Given the description of an element on the screen output the (x, y) to click on. 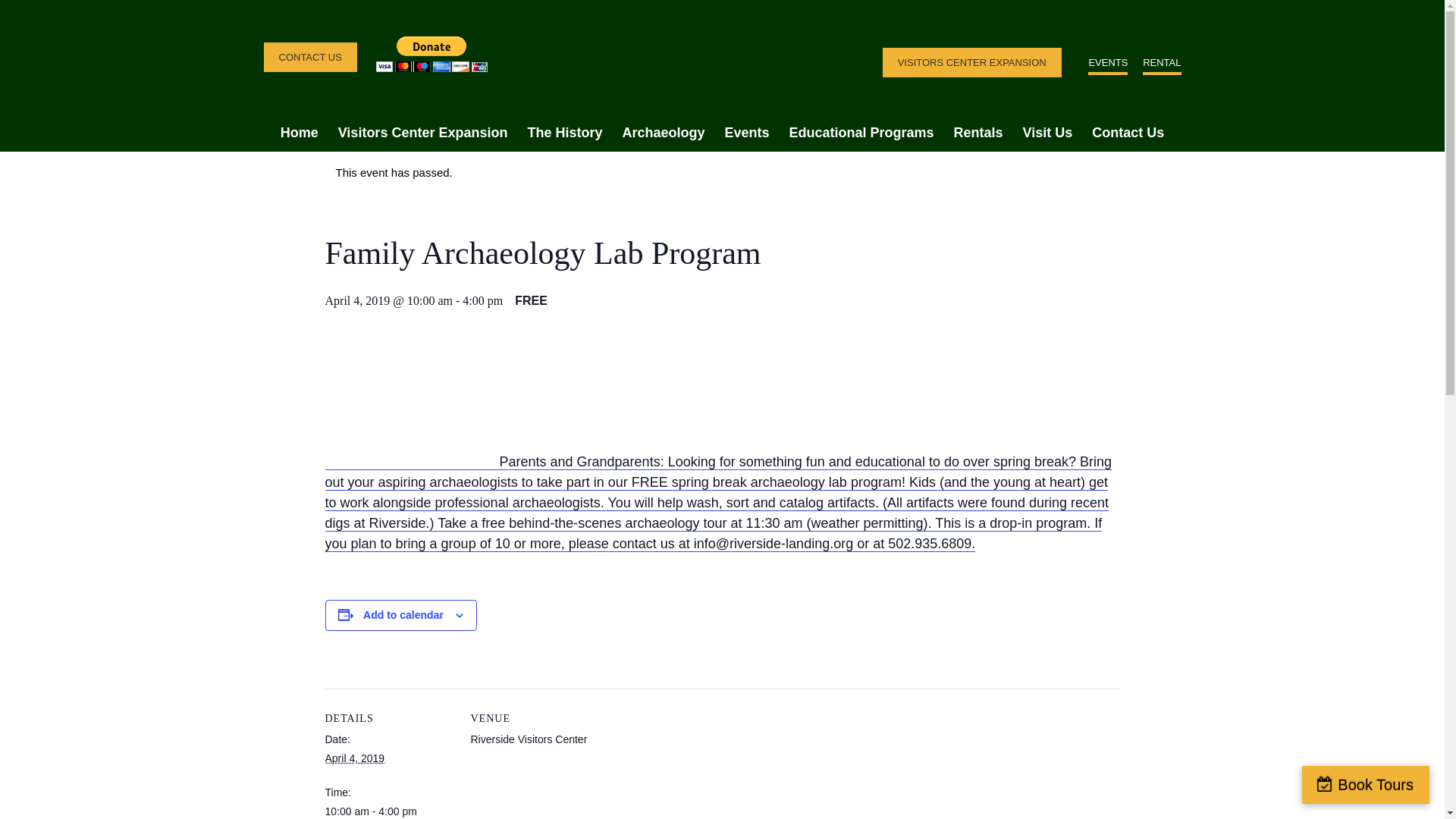
Visitors Center Expansion (423, 132)
CONTACT US (309, 57)
VISITORS CENTER EXPANSION (971, 61)
RENTAL (1161, 64)
The History (563, 132)
Visit Us (1048, 132)
Rentals (978, 132)
Contact Us (1127, 132)
Events (746, 132)
Home (299, 132)
